Given the description of an element on the screen output the (x, y) to click on. 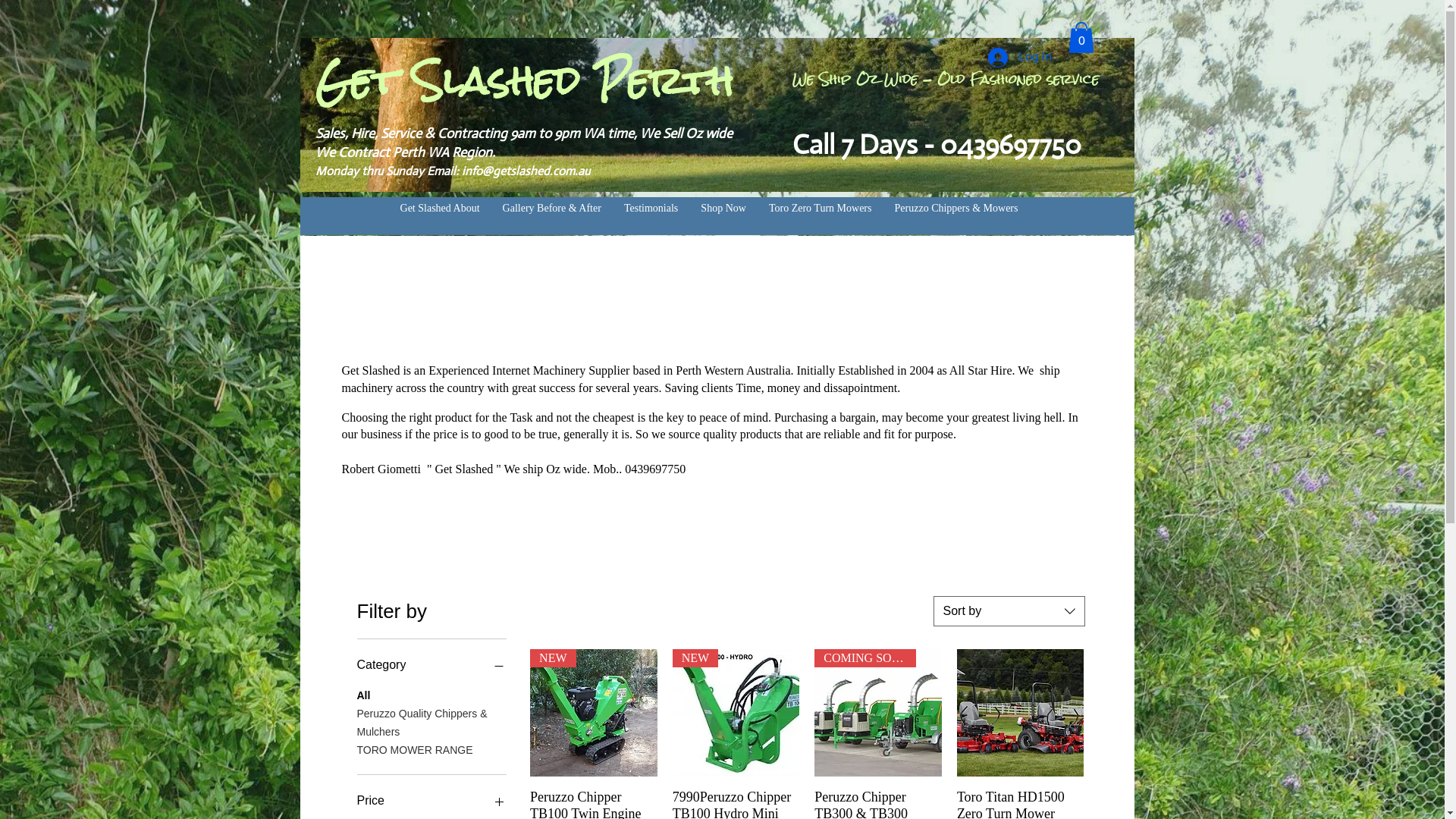
COMING SOON Element type: text (877, 712)
Shop Now Element type: text (723, 208)
Toro Zero Turn Mowers Element type: text (820, 208)
Get Slashed About Element type: text (439, 208)
Category Element type: text (431, 664)
NEW Element type: text (736, 712)
NEW Element type: text (593, 712)
0 Element type: text (1080, 37)
Sort by Element type: text (1008, 611)
info@getslashed.com.au Element type: text (525, 170)
Testimonials Element type: text (650, 208)
Log In Element type: text (1018, 57)
Gallery Before & After Element type: text (551, 208)
Peruzzo Chippers & Mowers Element type: text (956, 208)
Price Element type: text (431, 800)
